Given the description of an element on the screen output the (x, y) to click on. 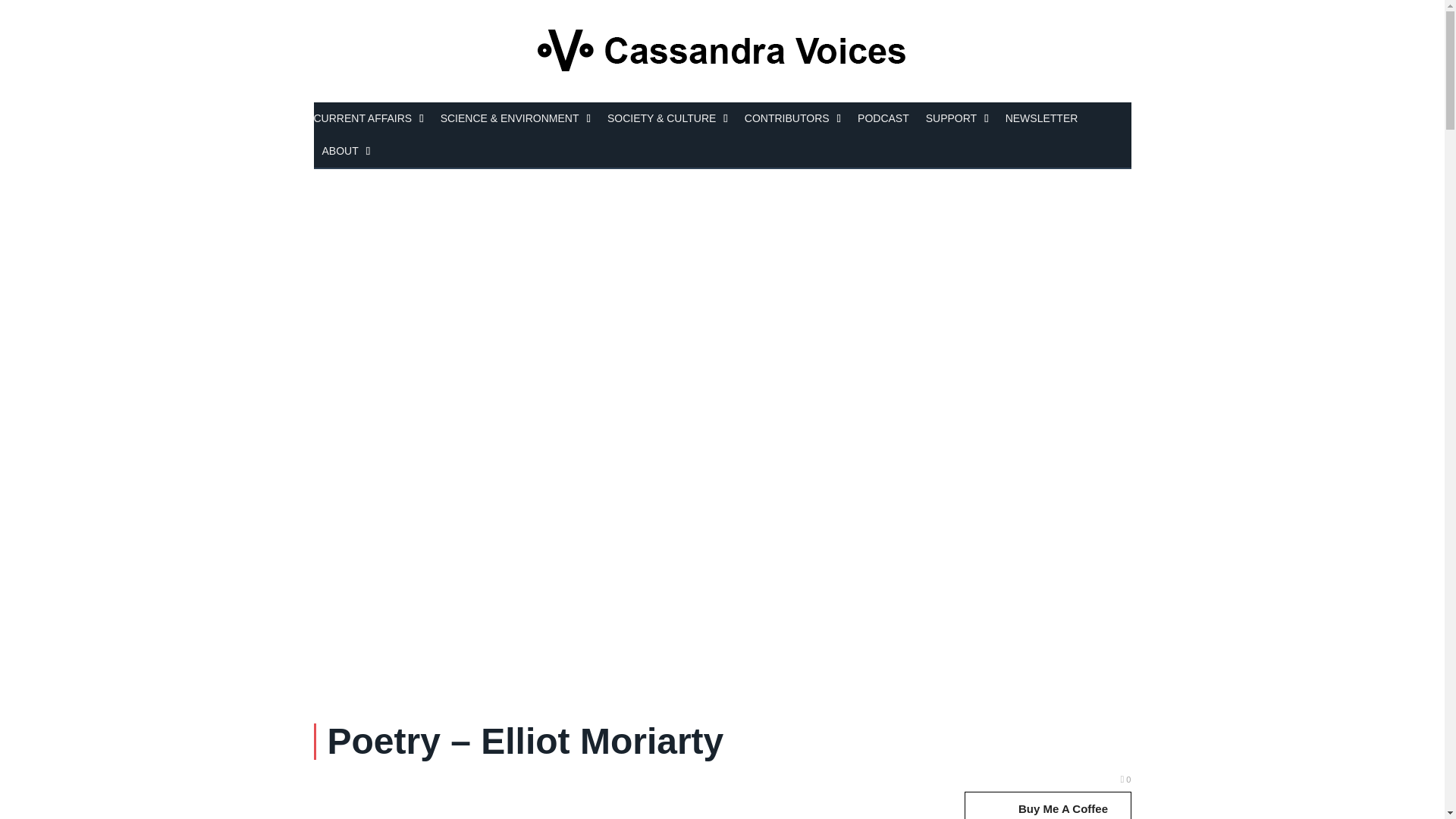
Cassandra Voices (721, 51)
CONTRIBUTORS (792, 119)
CURRENT AFFAIRS (373, 119)
